Given the description of an element on the screen output the (x, y) to click on. 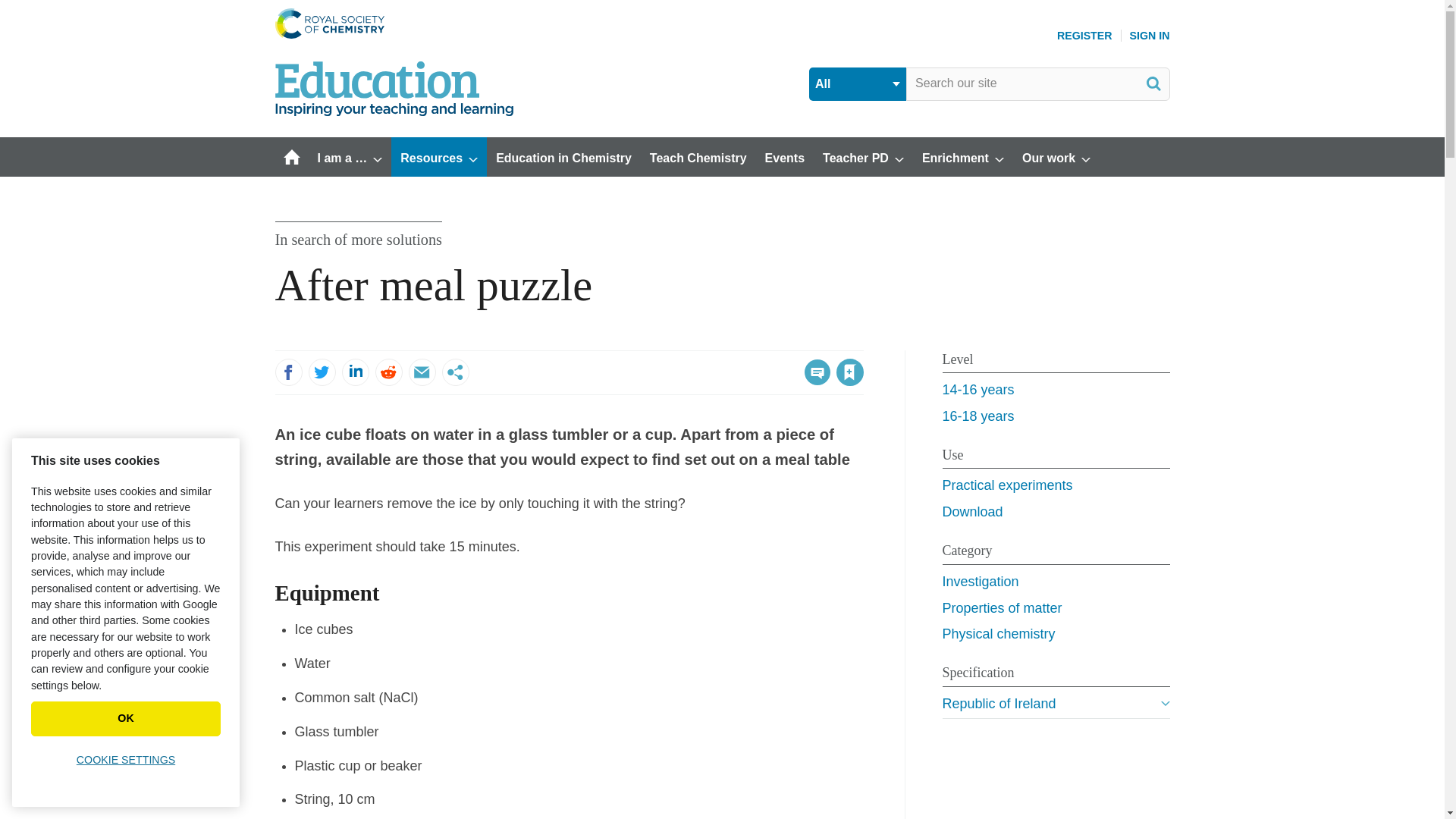
SEARCH (1152, 83)
Share this on Twitter (320, 371)
No comments (812, 381)
All (857, 83)
More share options (454, 371)
SIGN IN (1149, 35)
Share this on Facebook (288, 371)
Share this on LinkedIn (354, 371)
Share this by email (421, 371)
Share this on Reddit (387, 371)
REGISTER (1084, 35)
